Given the description of an element on the screen output the (x, y) to click on. 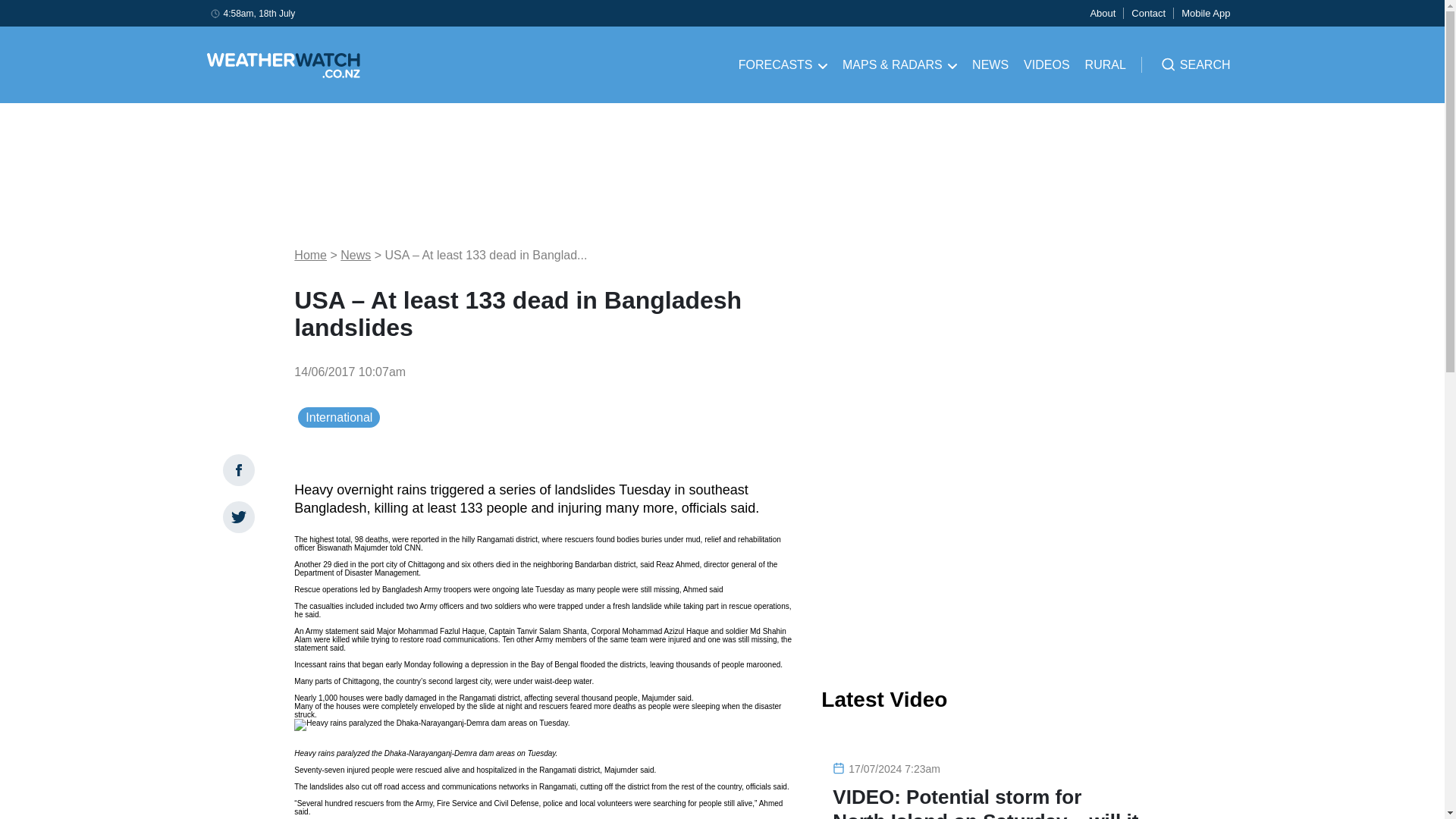
About (1102, 12)
3rd party ad content (985, 548)
Mobile App (1205, 12)
FORECASTS (782, 64)
Contact (1148, 12)
